Given the description of an element on the screen output the (x, y) to click on. 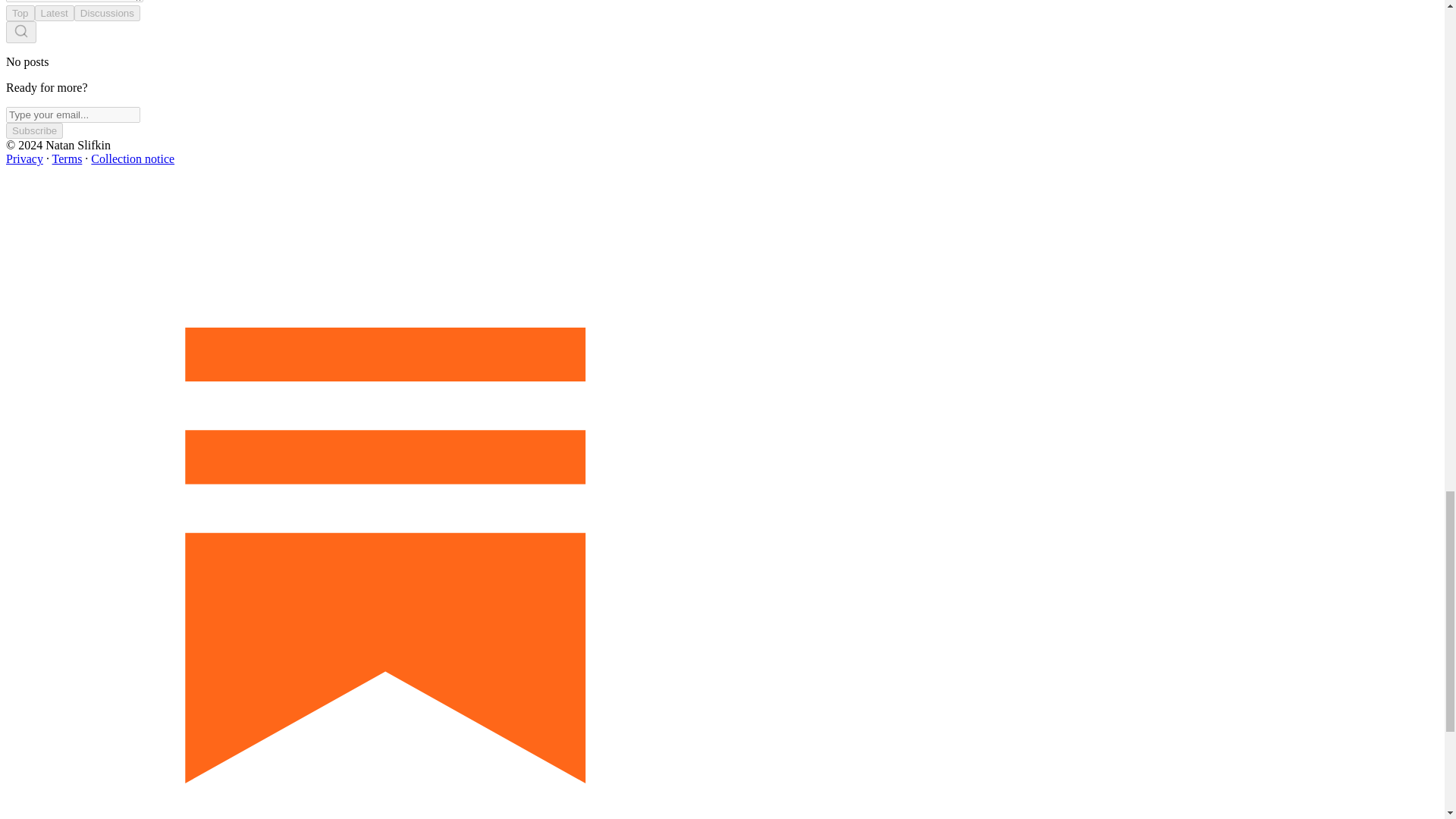
Top (19, 12)
